Given the description of an element on the screen output the (x, y) to click on. 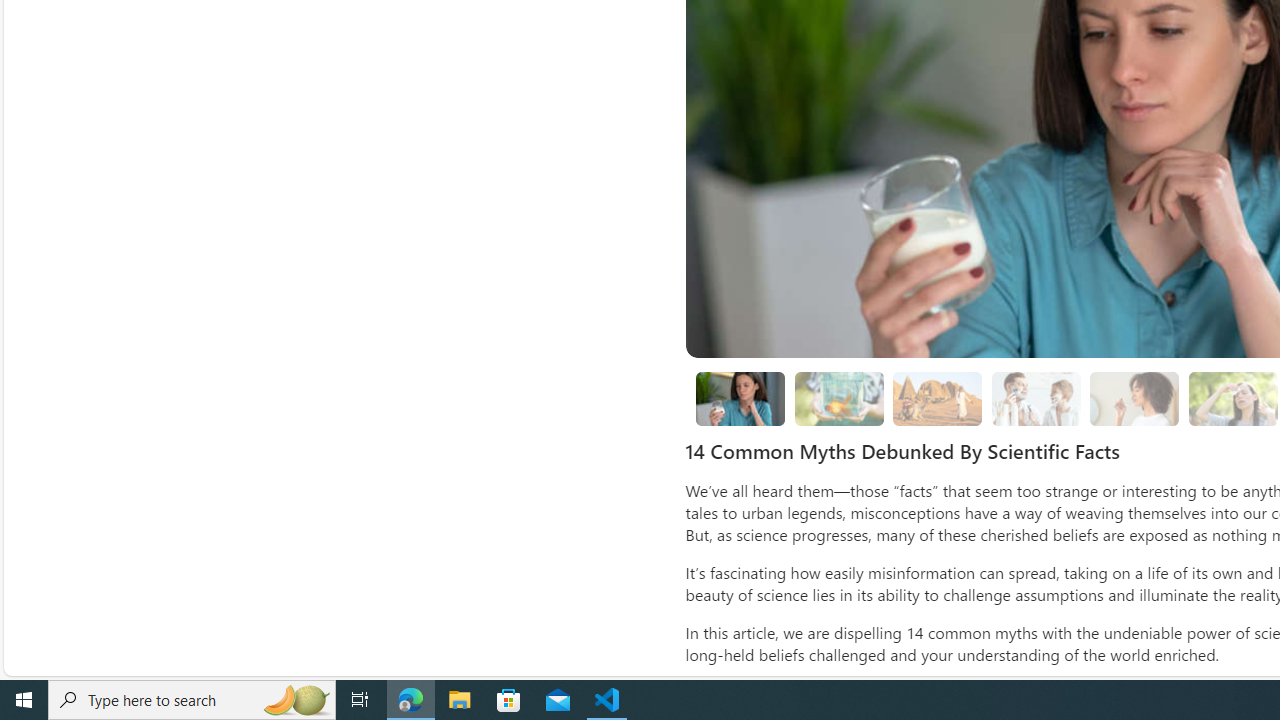
1. Disposable Razors (1035, 399)
14 Common Myths Debunked By Scientific Facts (740, 398)
1. Disposable Razors (1035, 398)
Class: progress (1134, 394)
14 Common Myths Debunked By Scientific Facts (740, 399)
1. Dry Mouth (1134, 398)
1. Dry Mouth (1135, 399)
3. Extreme Heat and Humidity (1232, 399)
